Given the description of an element on the screen output the (x, y) to click on. 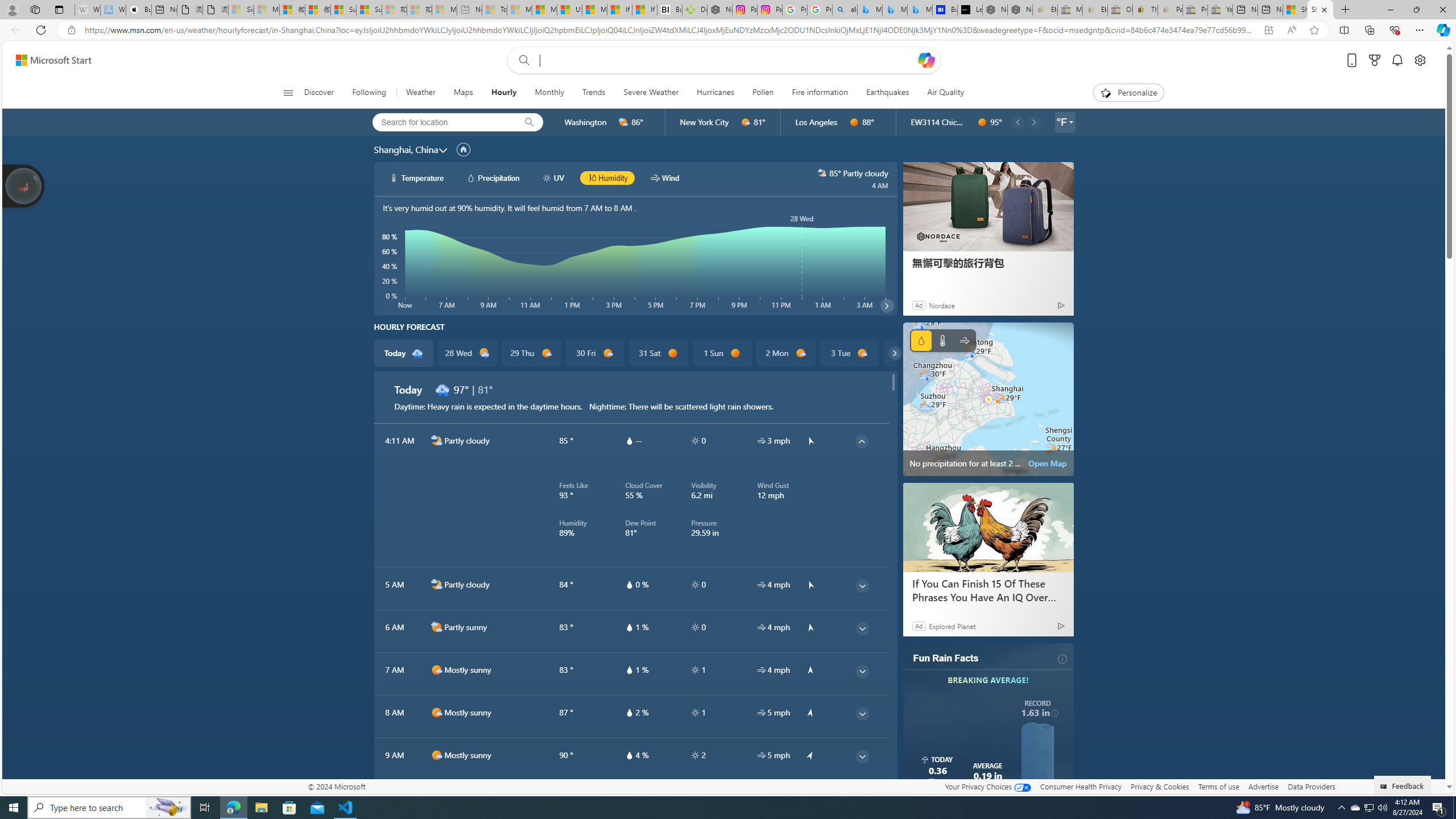
Shanghai, China hourly forecast | Microsoft Weather (1320, 9)
No precipitation for at least 2 hours (988, 398)
31 Sat d0000 (658, 352)
Join us in planting real trees to help our planet! (23, 185)
common/thinArrow (861, 798)
